Given the description of an element on the screen output the (x, y) to click on. 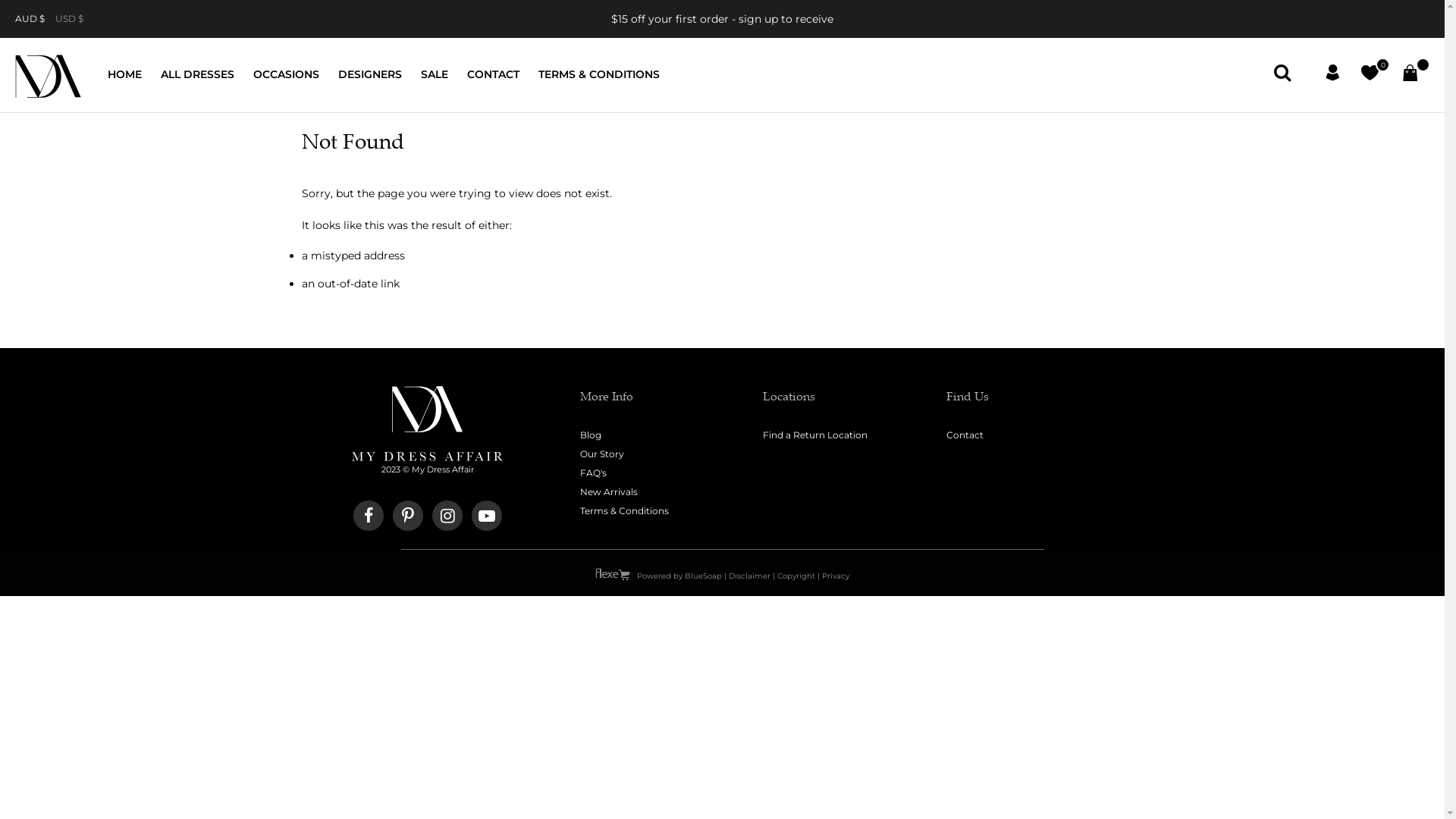
Copyright Element type: text (795, 575)
Contact Element type: text (964, 434)
Find a Return Location Element type: text (814, 434)
Terms & Conditions Element type: text (623, 510)
SALE Element type: text (434, 74)
OCCASIONS Element type: text (286, 74)
s Element type: text (1282, 72)
Pinterest Element type: hover (407, 515)
Blog Element type: text (589, 434)
ALL DRESSES Element type: text (197, 74)
Privacy Element type: text (835, 575)
FAQ's Element type: text (592, 472)
DESIGNERS Element type: text (370, 74)
Instagram Element type: hover (447, 515)
YouTube Element type: hover (486, 515)
TERMS & CONDITIONS Element type: text (598, 74)
My Dress Affair Element type: hover (48, 77)
New Arrivals Element type: text (608, 491)
HOME Element type: text (124, 74)
My Dress Affair Element type: hover (427, 457)
CONTACT Element type: text (493, 74)
Disclaimer Element type: text (748, 575)
AUD $ Element type: text (35, 18)
Our Story Element type: text (601, 453)
Sign In Element type: hover (1332, 74)
Facebook Element type: hover (368, 515)
Cart Contents Element type: hover (1410, 74)
0 Element type: text (1369, 74)
USD $ Element type: text (74, 18)
